Given the description of an element on the screen output the (x, y) to click on. 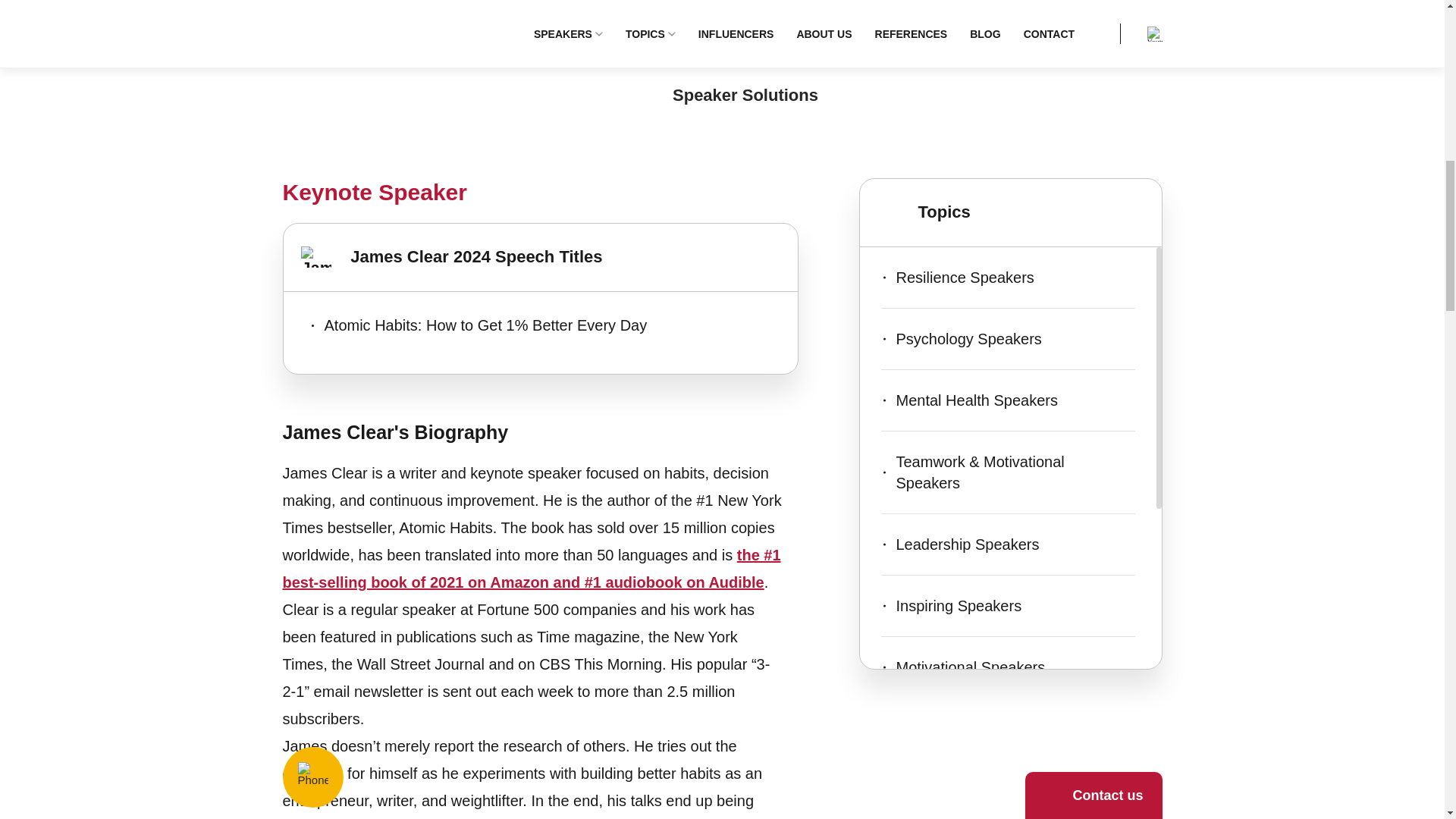
 James Clear (392, 2)
